Given the description of an element on the screen output the (x, y) to click on. 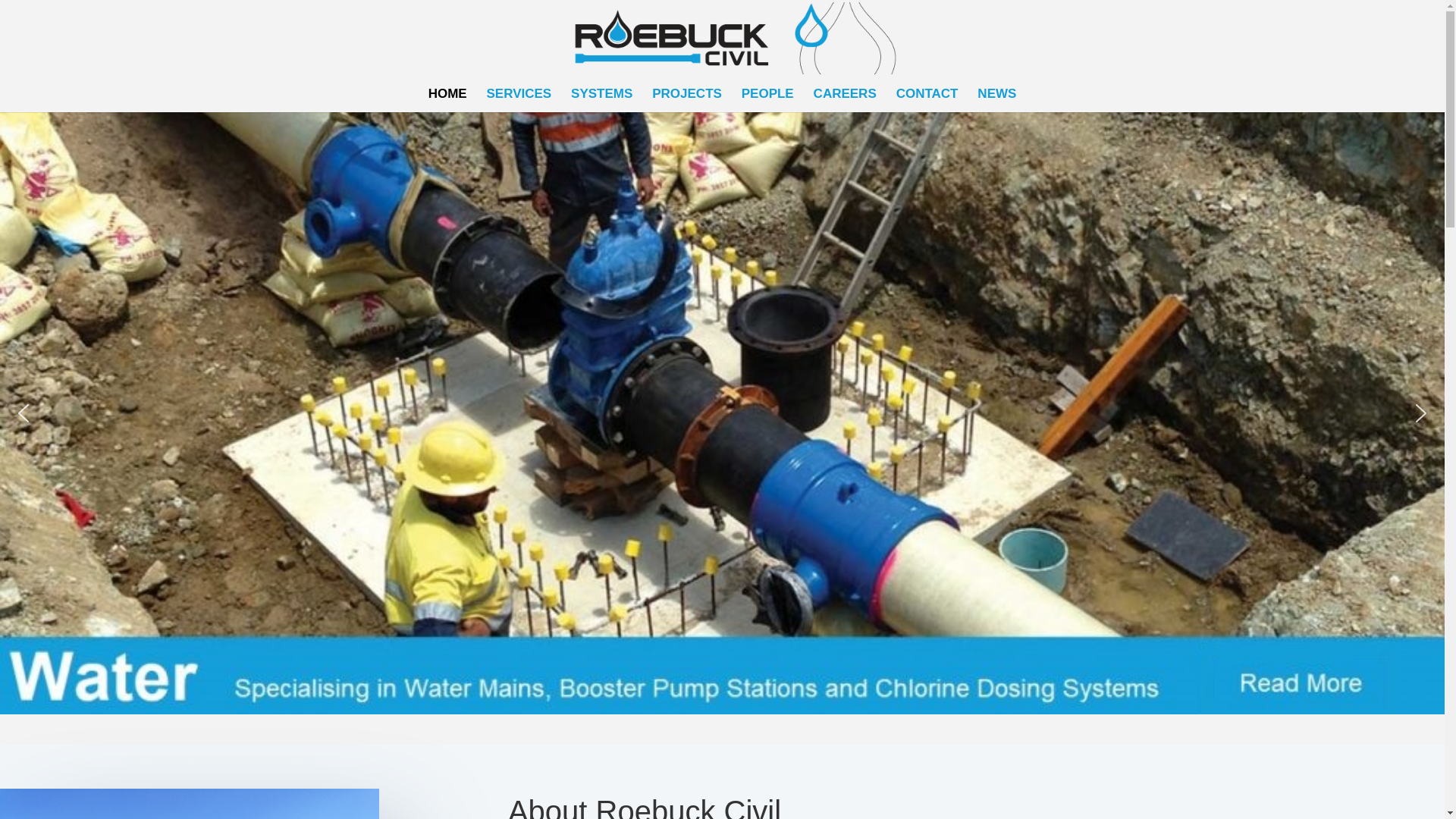
HOME (447, 94)
CAREERS (844, 94)
PEOPLE (767, 94)
CONTACT (927, 94)
SYSTEMS (600, 94)
PROJECTS (687, 94)
NEWS (996, 94)
SERVICES (518, 94)
